Given the description of an element on the screen output the (x, y) to click on. 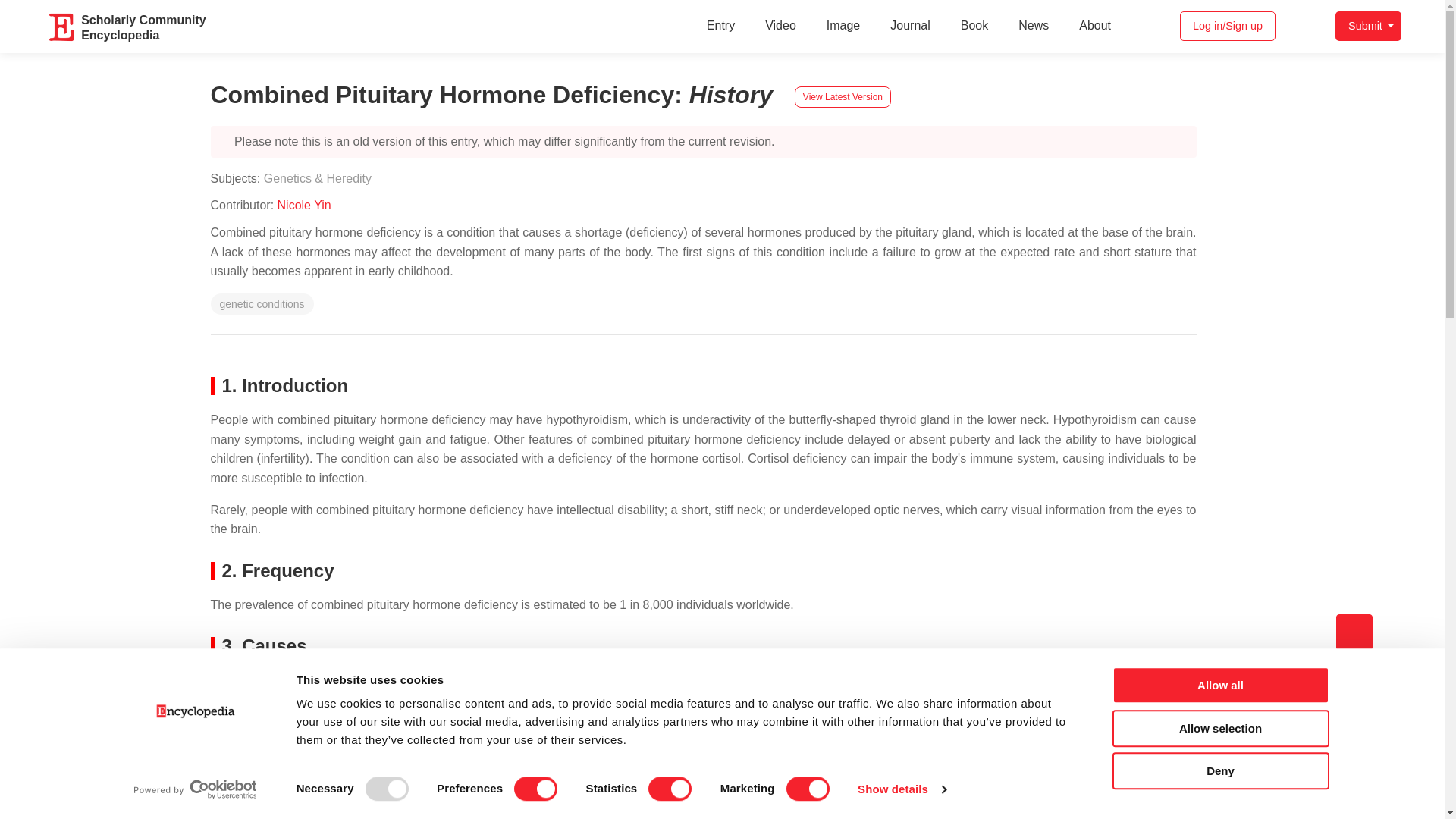
Deny (1219, 770)
Encyclopedia (62, 27)
View latest version (842, 96)
Show details (900, 789)
